Given the description of an element on the screen output the (x, y) to click on. 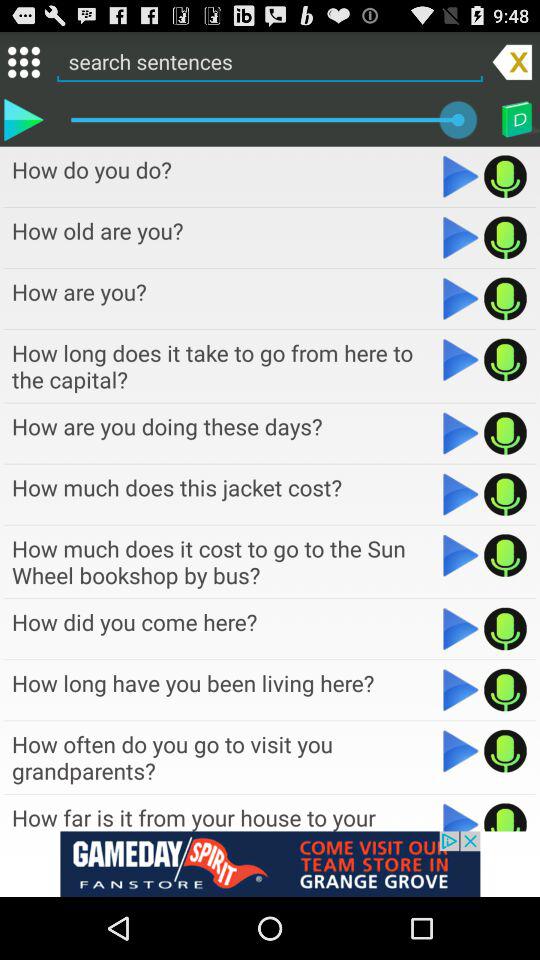
listen to 'how much does this jacket cost (460, 494)
